Given the description of an element on the screen output the (x, y) to click on. 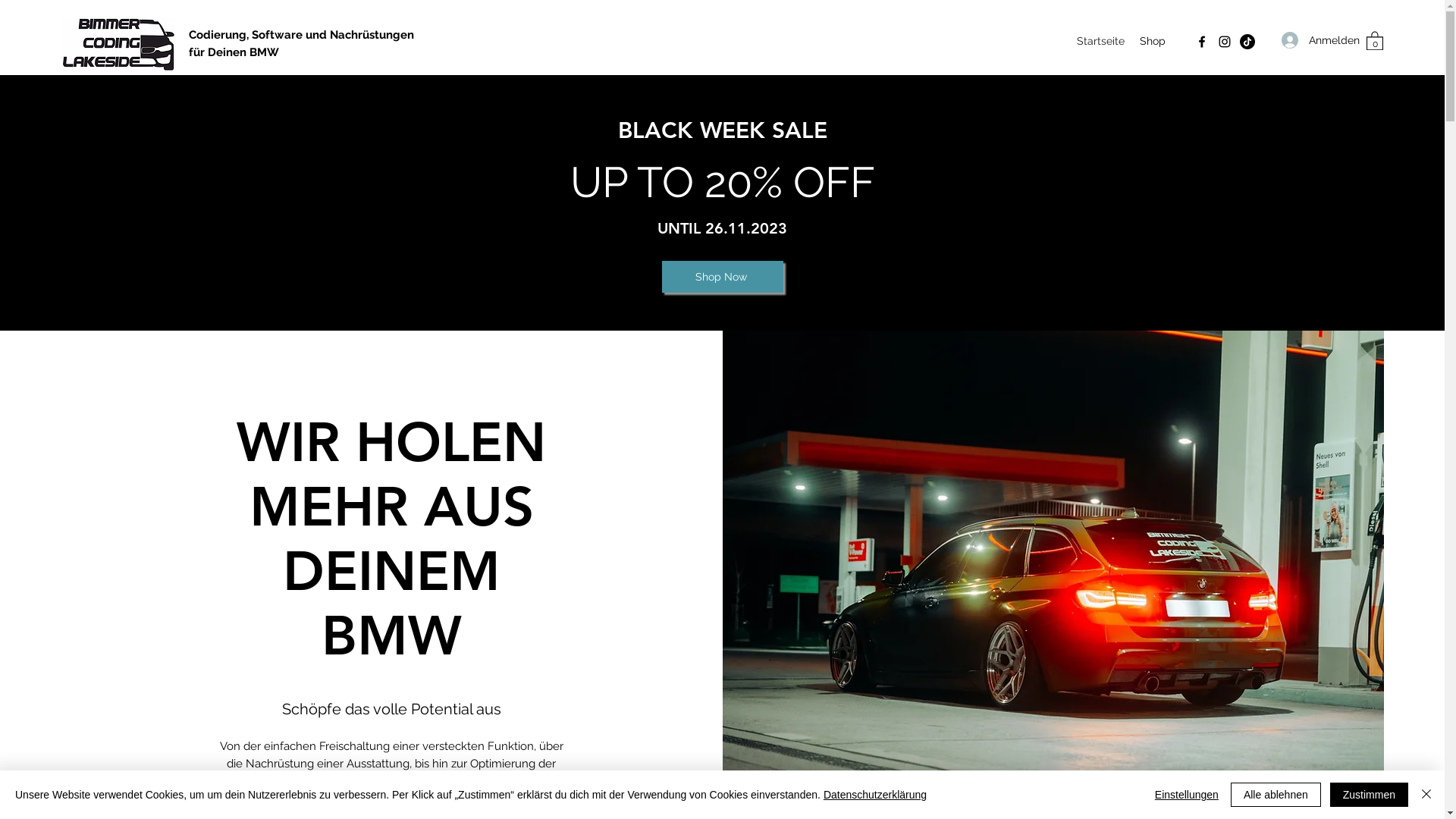
Anmelden Element type: text (1302, 40)
Shop Element type: text (1152, 41)
Alle ablehnen Element type: text (1275, 794)
Startseite Element type: text (1100, 41)
Shop Now Element type: text (721, 276)
Zustimmen Element type: text (1369, 794)
0 Element type: text (1374, 40)
